Given the description of an element on the screen output the (x, y) to click on. 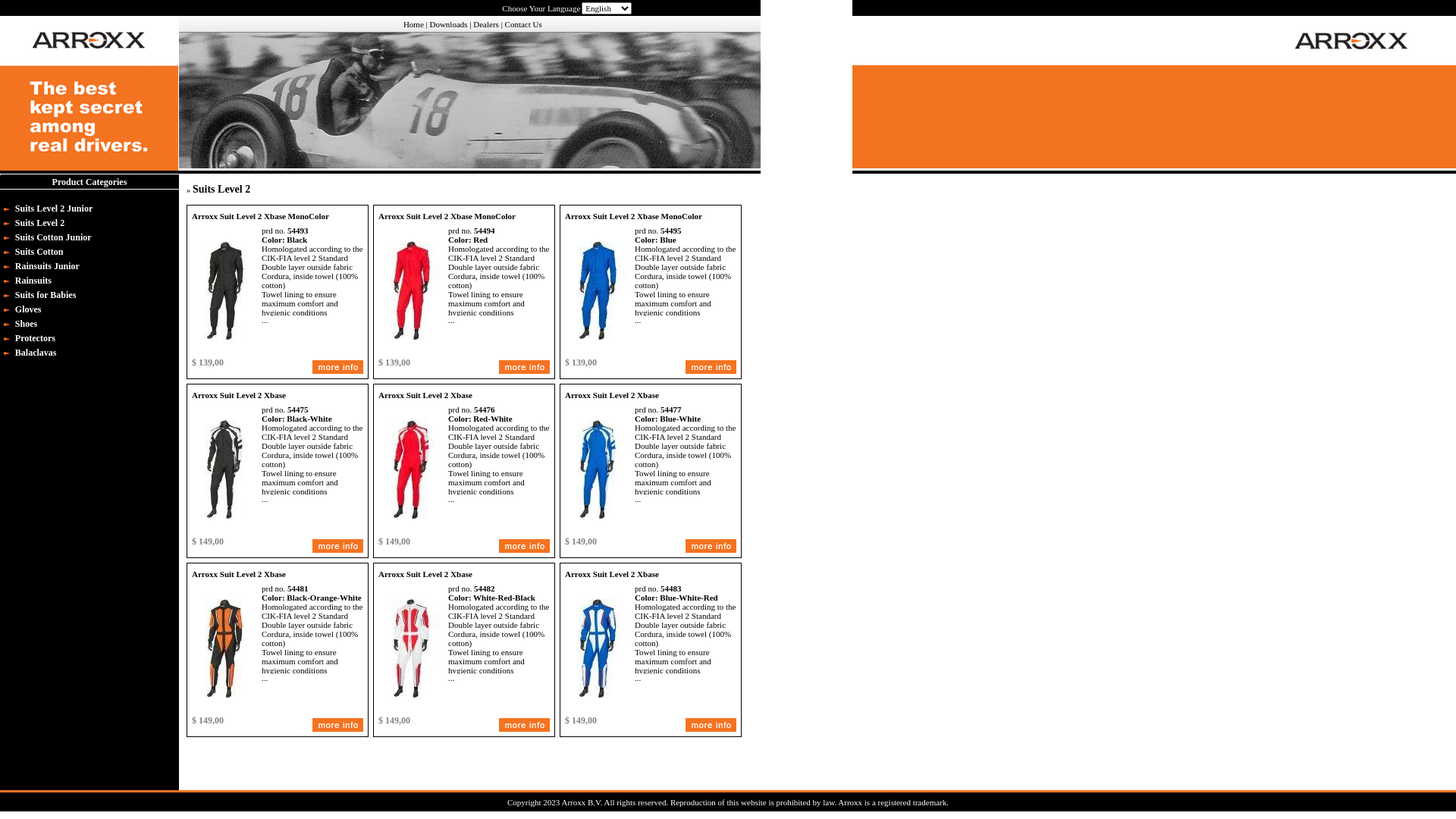
Shoes Element type: text (27, 323)
Protectors Element type: text (37, 338)
Suits Level 2 Junior Element type: text (55, 208)
Suits Level 2 Element type: text (41, 222)
Rainsuits Element type: text (35, 280)
Home Element type: text (413, 23)
Suits for Babies Element type: text (47, 294)
Balaclavas Element type: text (37, 352)
Downloads Element type: text (448, 23)
Contact Us Element type: text (523, 23)
Suits Cotton Junior Element type: text (55, 237)
Dealers Element type: text (485, 23)
Suits Cotton Element type: text (41, 251)
Gloves Element type: text (30, 309)
Rainsuits Junior Element type: text (49, 266)
